Given the description of an element on the screen output the (x, y) to click on. 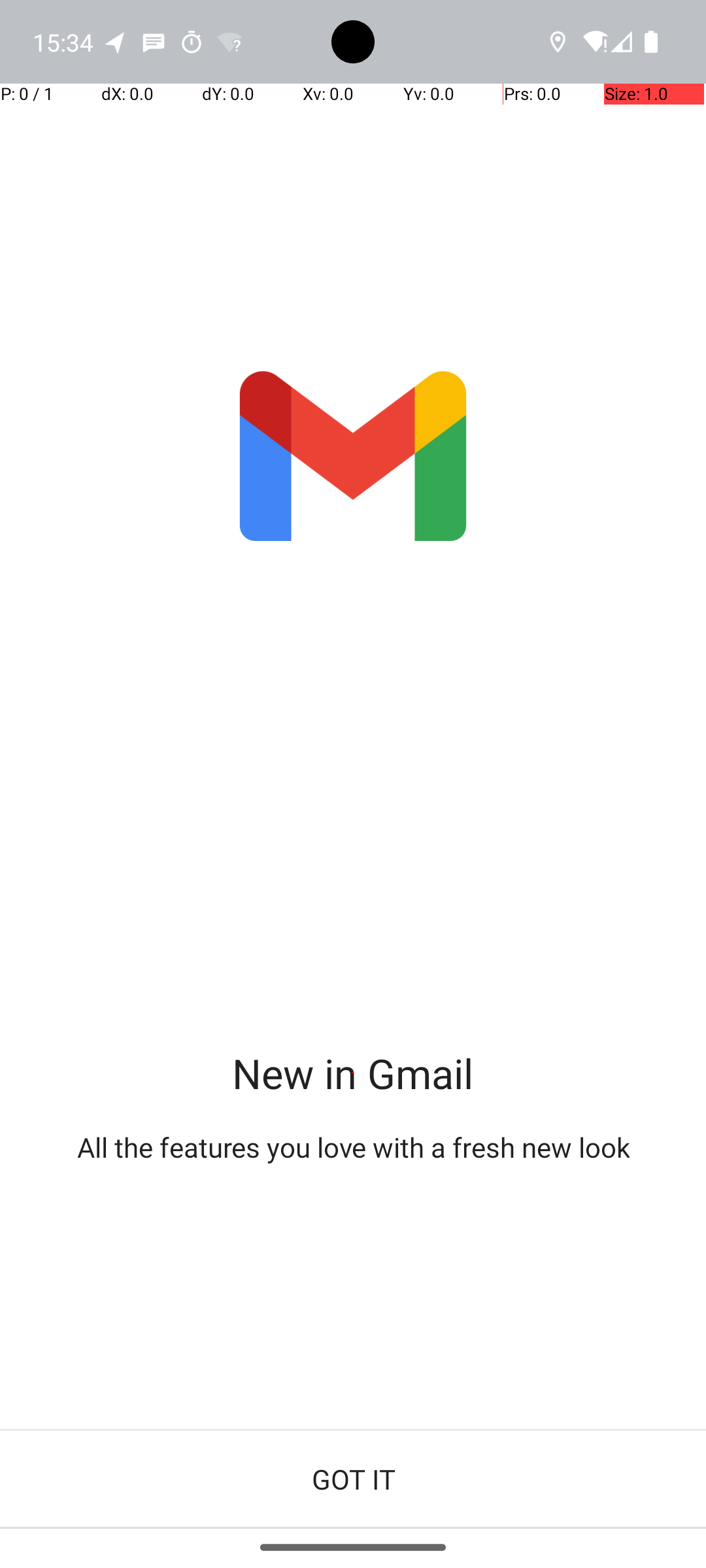
GOT IT Element type: android.widget.TextView (353, 1478)
New in Gmail Element type: android.widget.TextView (352, 1072)
All the features you love with a fresh new look Element type: android.widget.TextView (352, 1146)
